Given the description of an element on the screen output the (x, y) to click on. 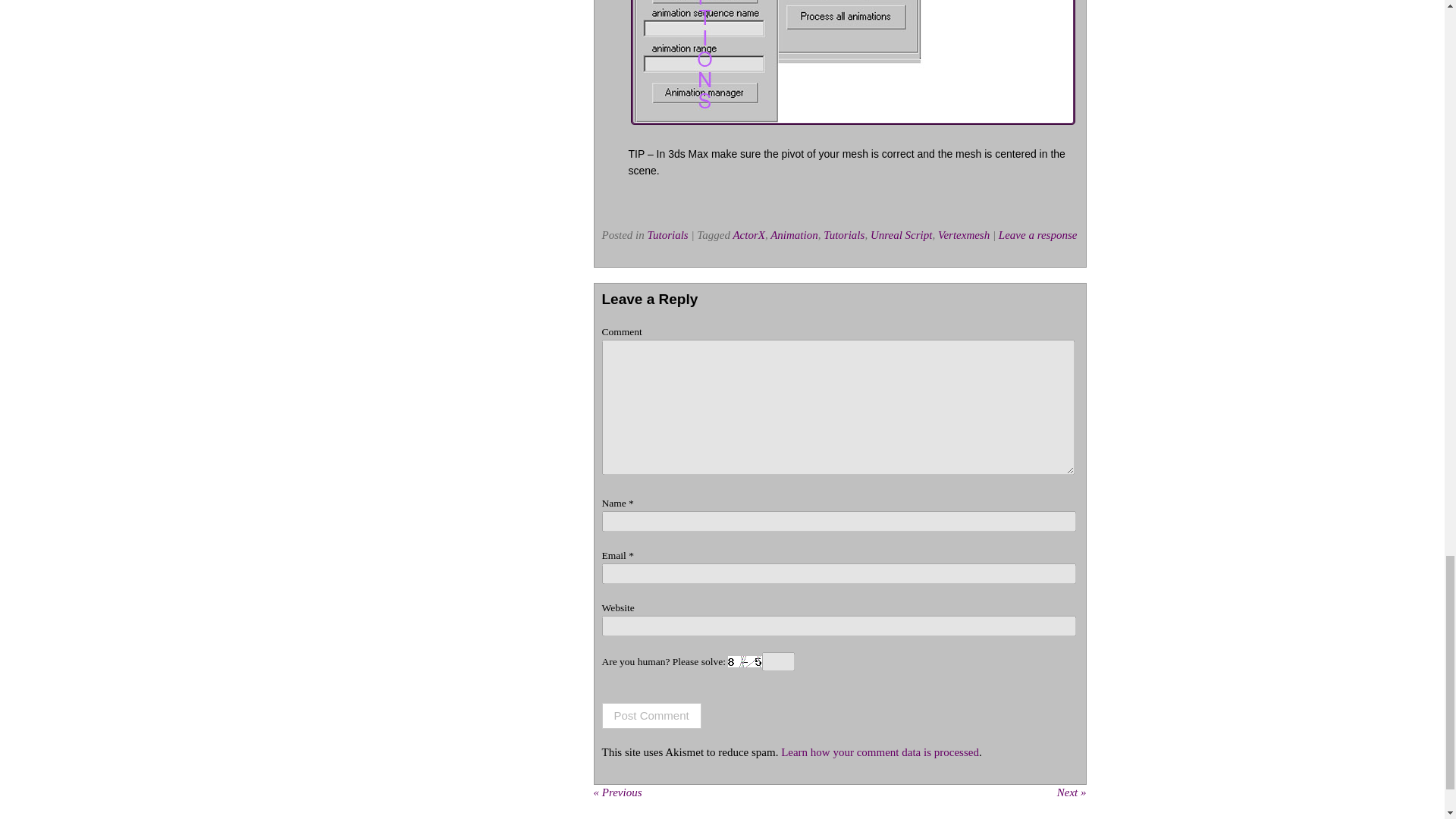
Post Comment (651, 715)
Leave a response (1037, 234)
Comment on Vertex Animated Mesh Exporting with ActorX (1037, 234)
Tutorials (844, 234)
Learn how your comment data is processed (879, 752)
Animation (794, 234)
Post Comment (651, 715)
Vertexmesh (963, 234)
Tutorials (667, 234)
Unreal Script (901, 234)
ActorX (748, 234)
